Given the description of an element on the screen output the (x, y) to click on. 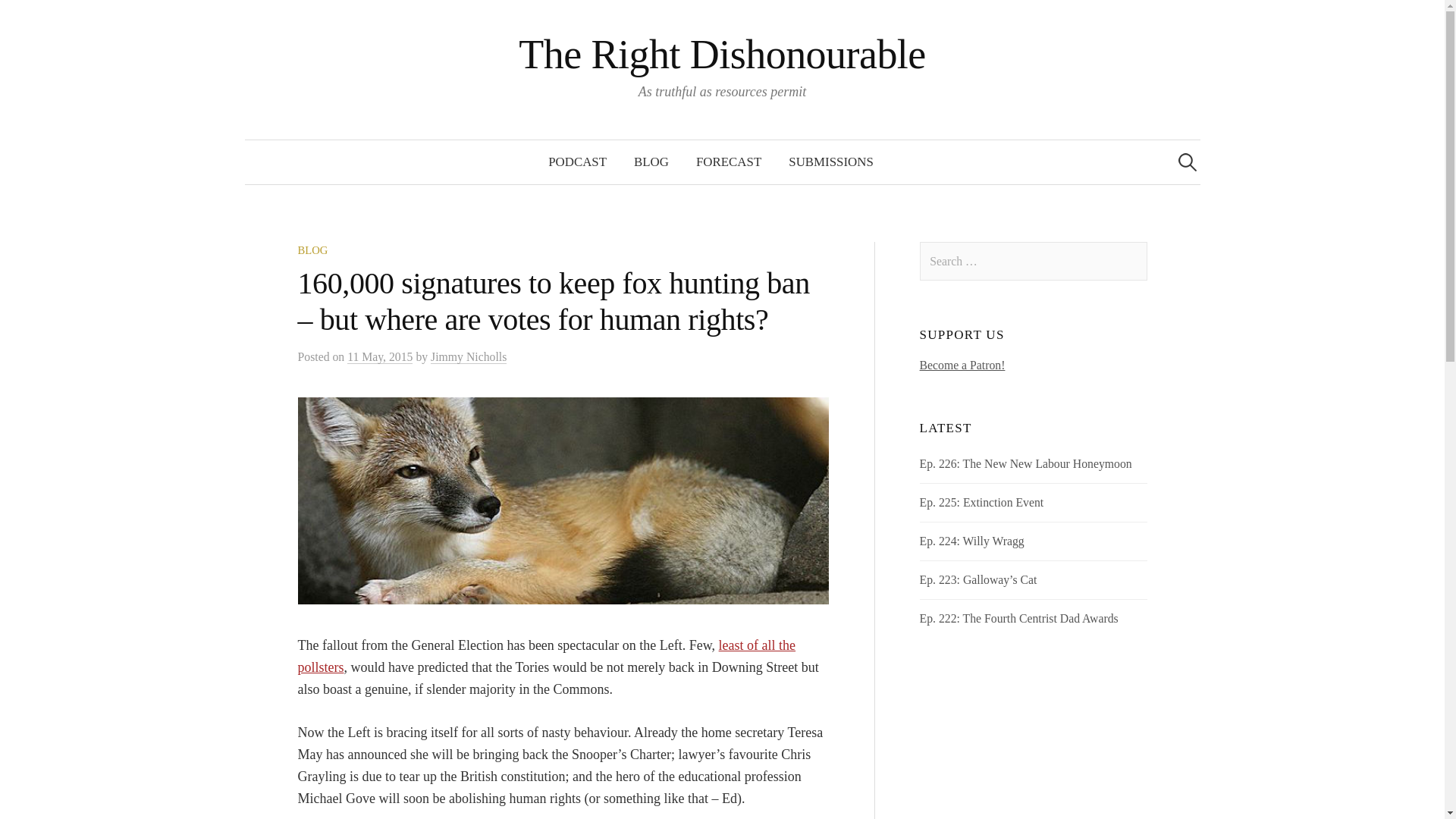
FORECAST (728, 162)
Ep. 226: The New New Labour Honeymoon (1026, 463)
Search (40, 18)
SUBMISSIONS (830, 162)
least of all the pollsters (545, 656)
Search (18, 18)
11 May, 2015 (379, 356)
Ep. 225: Extinction Event (981, 502)
PODCAST (577, 162)
View all posts by Jimmy Nicholls (468, 356)
The Right Dishonourable (722, 53)
Jimmy Nicholls (468, 356)
Ep. 224: Willy Wragg (972, 540)
BLOG (651, 162)
Become a Patron! (963, 364)
